Given the description of an element on the screen output the (x, y) to click on. 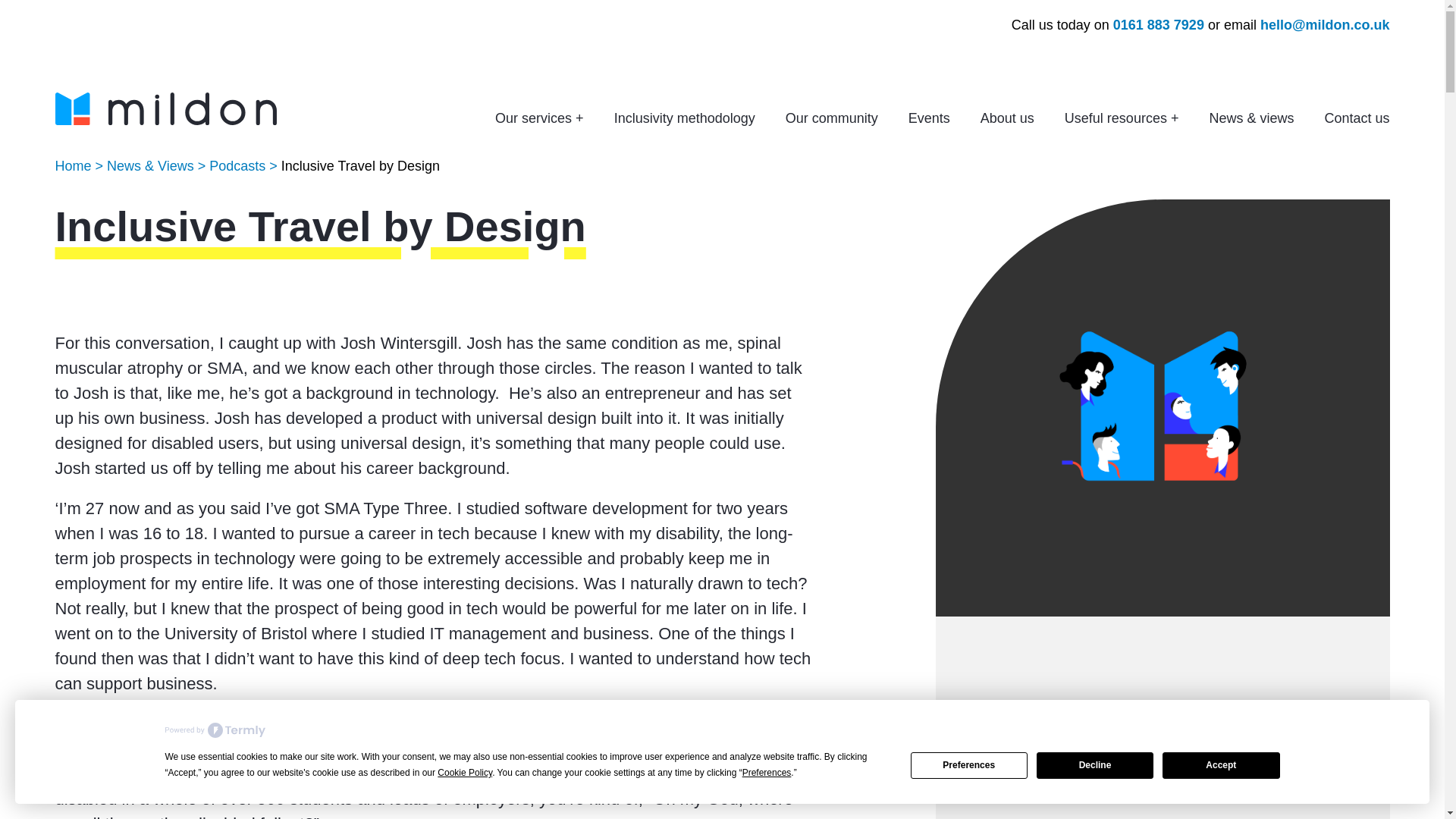
Useful resources (1121, 118)
Our community (831, 118)
0161 883 7929 (1158, 24)
Preferences (969, 765)
Accept (1220, 765)
Decline (1094, 765)
Home (72, 165)
Our services (539, 118)
Podcasts (236, 165)
About us (1006, 118)
Events (929, 118)
Inclusivity methodology (684, 118)
Contact us (1356, 118)
